Given the description of an element on the screen output the (x, y) to click on. 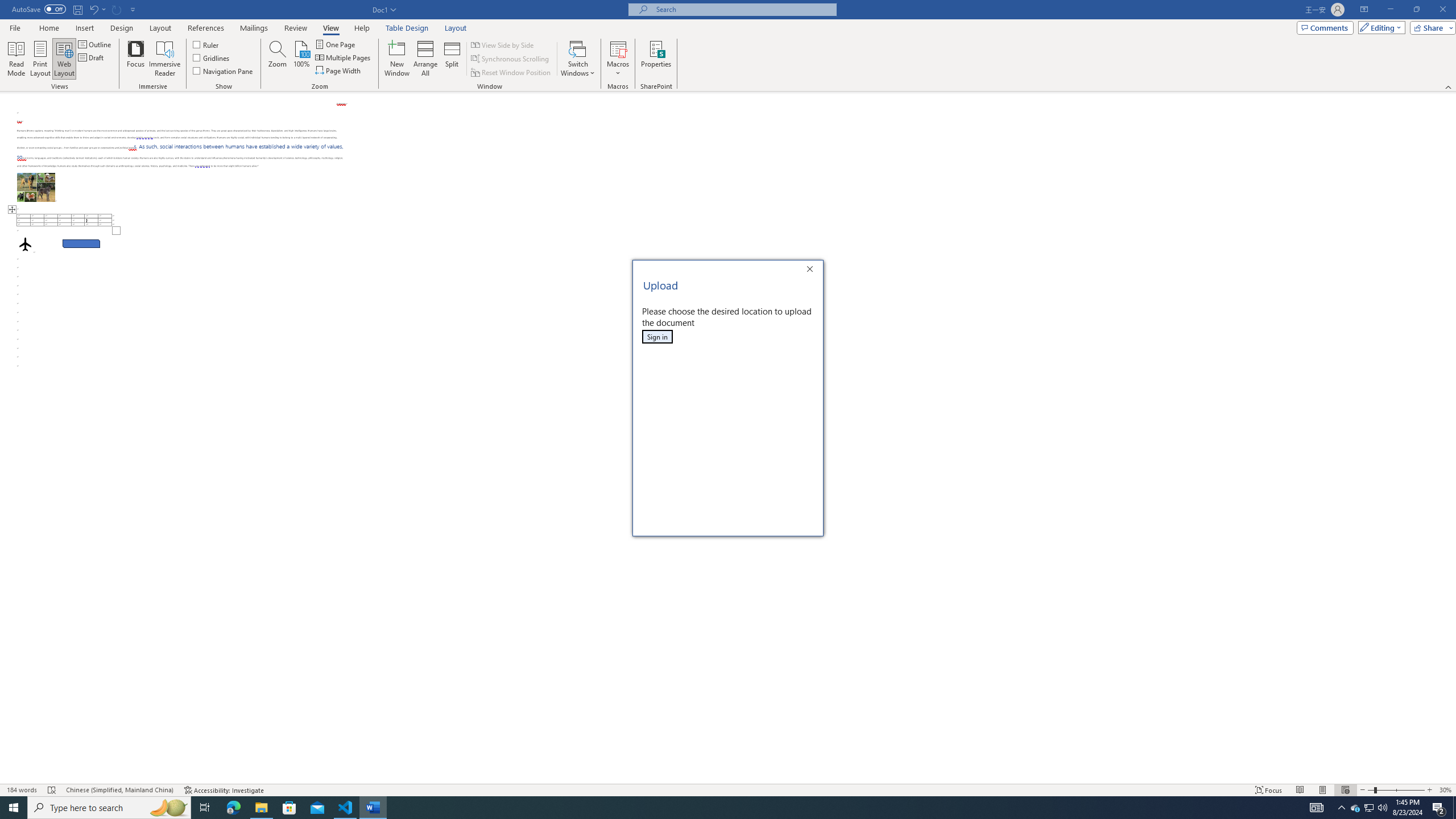
Zoom... (276, 58)
Microsoft Store (289, 807)
Collapse the Ribbon (1448, 86)
Q2790: 100% (1382, 807)
Customize Quick Access Toolbar (133, 9)
Share (1430, 27)
Arrange All (425, 58)
Macros (1355, 807)
Editing (617, 58)
View (1379, 27)
Draft (330, 28)
Ruler (91, 56)
Class: NetUIScrollBar (206, 44)
